Given the description of an element on the screen output the (x, y) to click on. 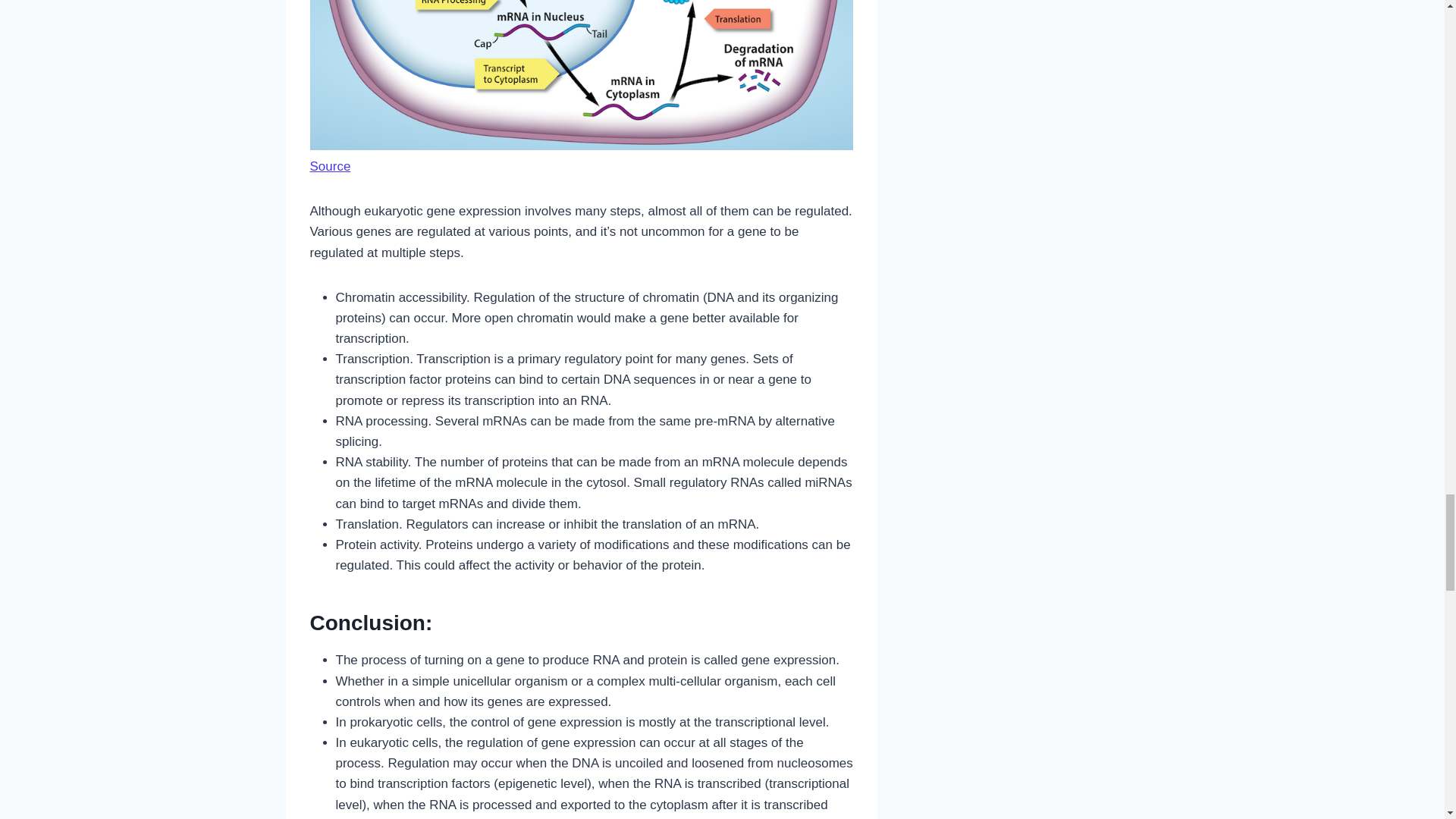
Source (329, 165)
